Given the description of an element on the screen output the (x, y) to click on. 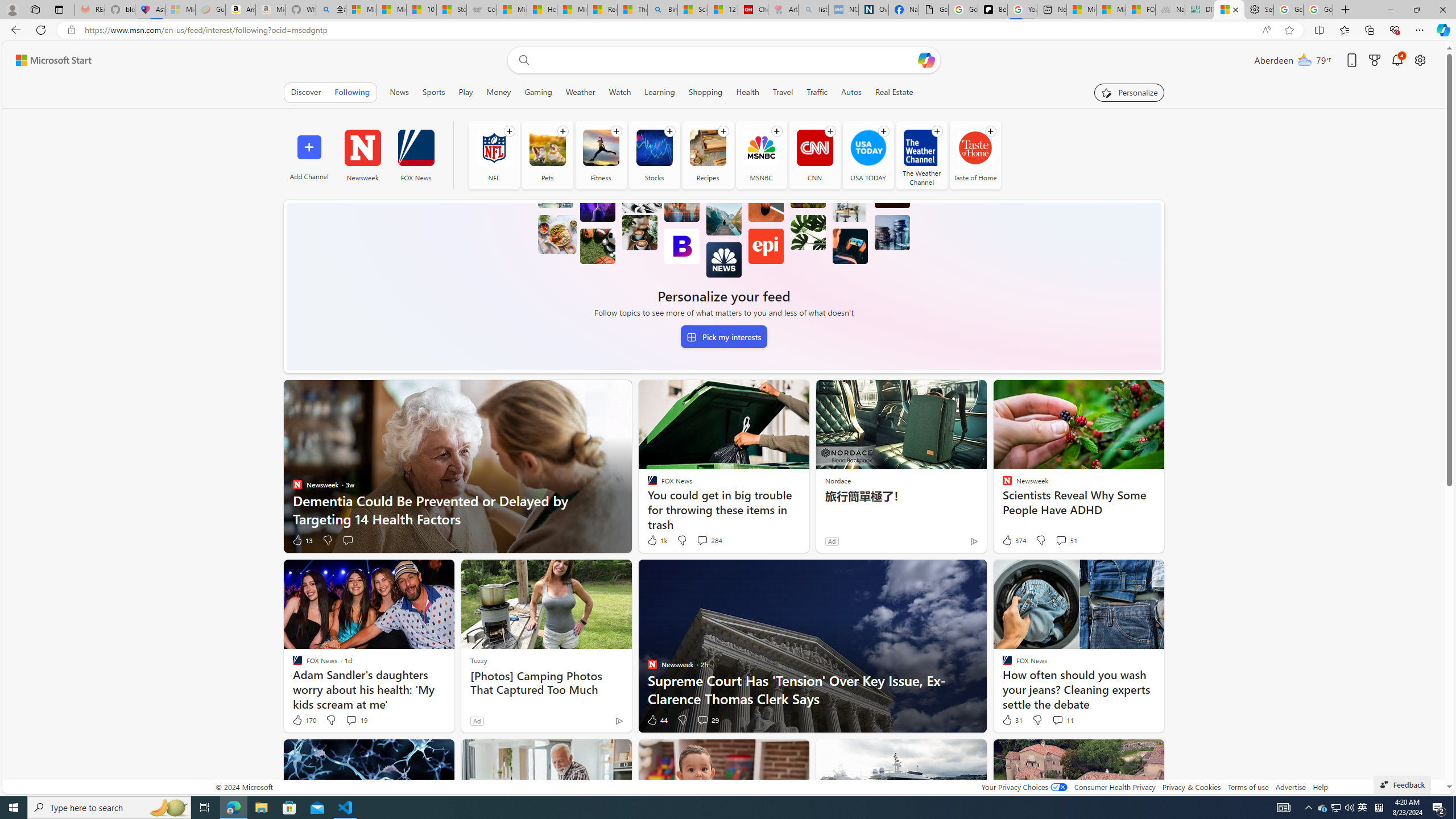
FOX News - MSN (1140, 9)
Real Estate (893, 92)
Shopping (705, 92)
Travel (782, 92)
The Weather Channel (921, 155)
Fitness (600, 147)
Newsweek (362, 147)
Stocks (654, 147)
View comments 11 Comment (1056, 719)
View comments 284 Comment (701, 540)
